Given the description of an element on the screen output the (x, y) to click on. 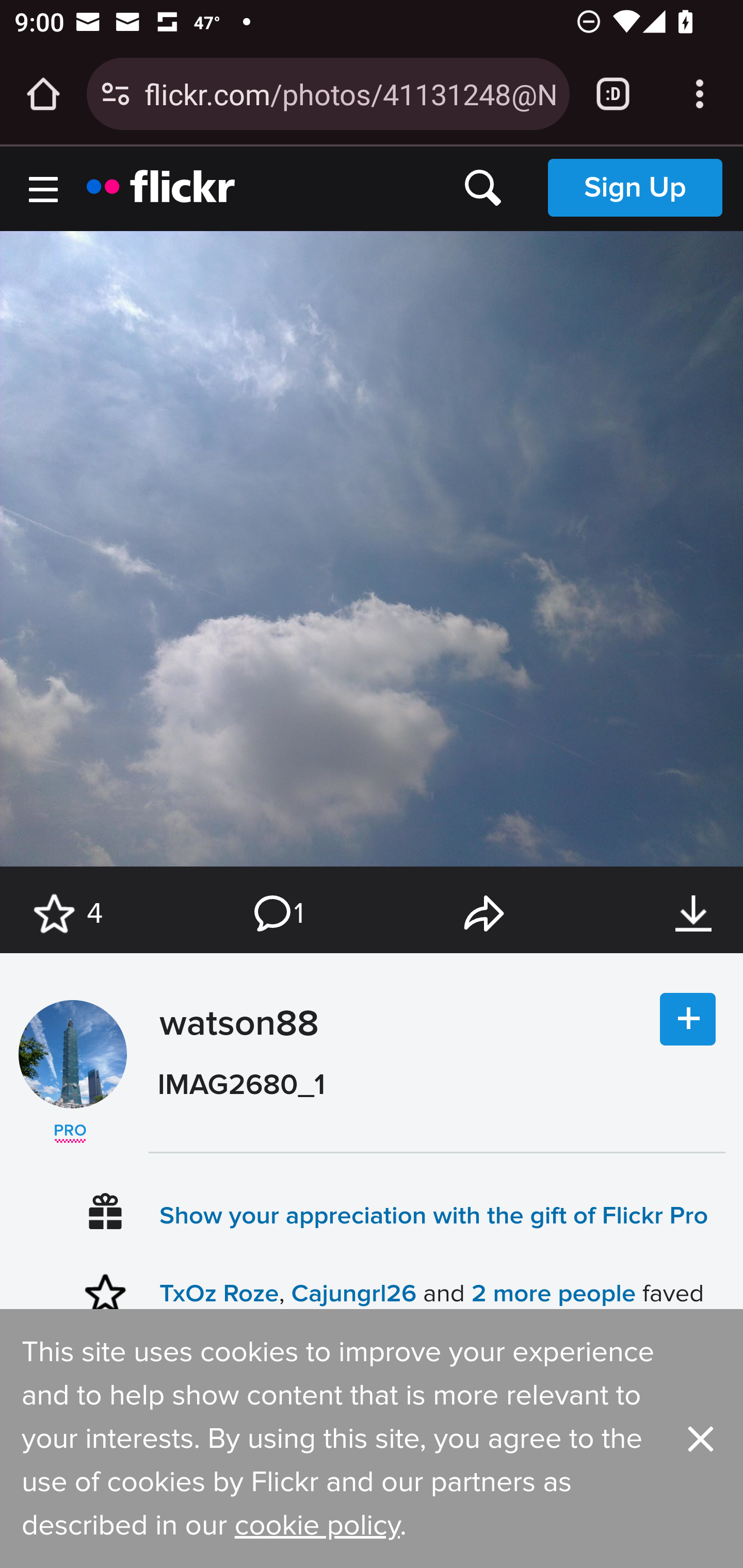
Open the home page (43, 93)
Connection is secure (115, 93)
Switch or close tabs (612, 93)
Customize and control Google Chrome (699, 93)
flickr.com/photos/41131248@N00/8924816052 (349, 92)
Sign Up Sign Up Sign Up (634, 187)
1 (276, 913)
Download this photo (692, 913)
Follow (687, 1019)
watson88 (72, 1054)
watson88 (234, 1072)
Flickr ♥ our Old School Pros (70, 1133)
Show your appreciation with the gift of Flickr Pro (434, 1213)
TxOz Roze (219, 1293)
Cajungrl26 (353, 1293)
2 more people (553, 1293)
